Given the description of an element on the screen output the (x, y) to click on. 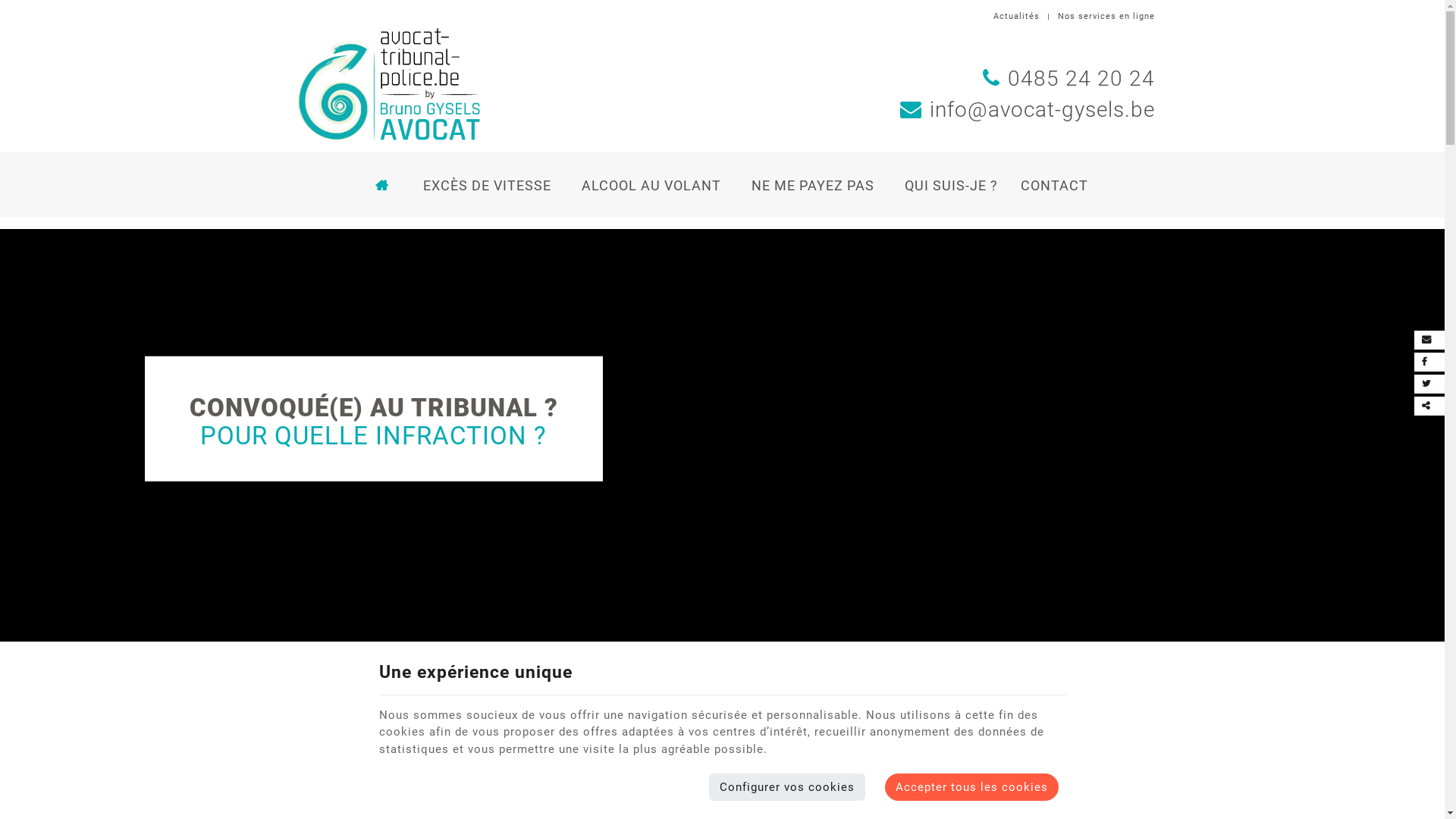
QUI SUIS-JE ? Element type: text (951, 184)
Partager ce contenu Element type: text (1433, 405)
ALCOOL AU VOLANT Element type: text (651, 184)
ACCUEIL Element type: text (381, 185)
Autres infractions Element type: text (983, 746)
0485 24 20 24 Element type: text (1068, 78)
Avocat-Tribunal-Police Element type: hover (387, 83)
Accepter tous les cookies Element type: text (971, 786)
NE ME PAYEZ PAS Element type: text (812, 184)
Alcool au volant Element type: text (722, 746)
CONTACT Element type: text (1050, 184)
Configurer vos cookies Element type: text (787, 786)
Nos services en ligne Element type: text (1105, 16)
info@avocat-gysels.be Element type: text (1026, 109)
